Given the description of an element on the screen output the (x, y) to click on. 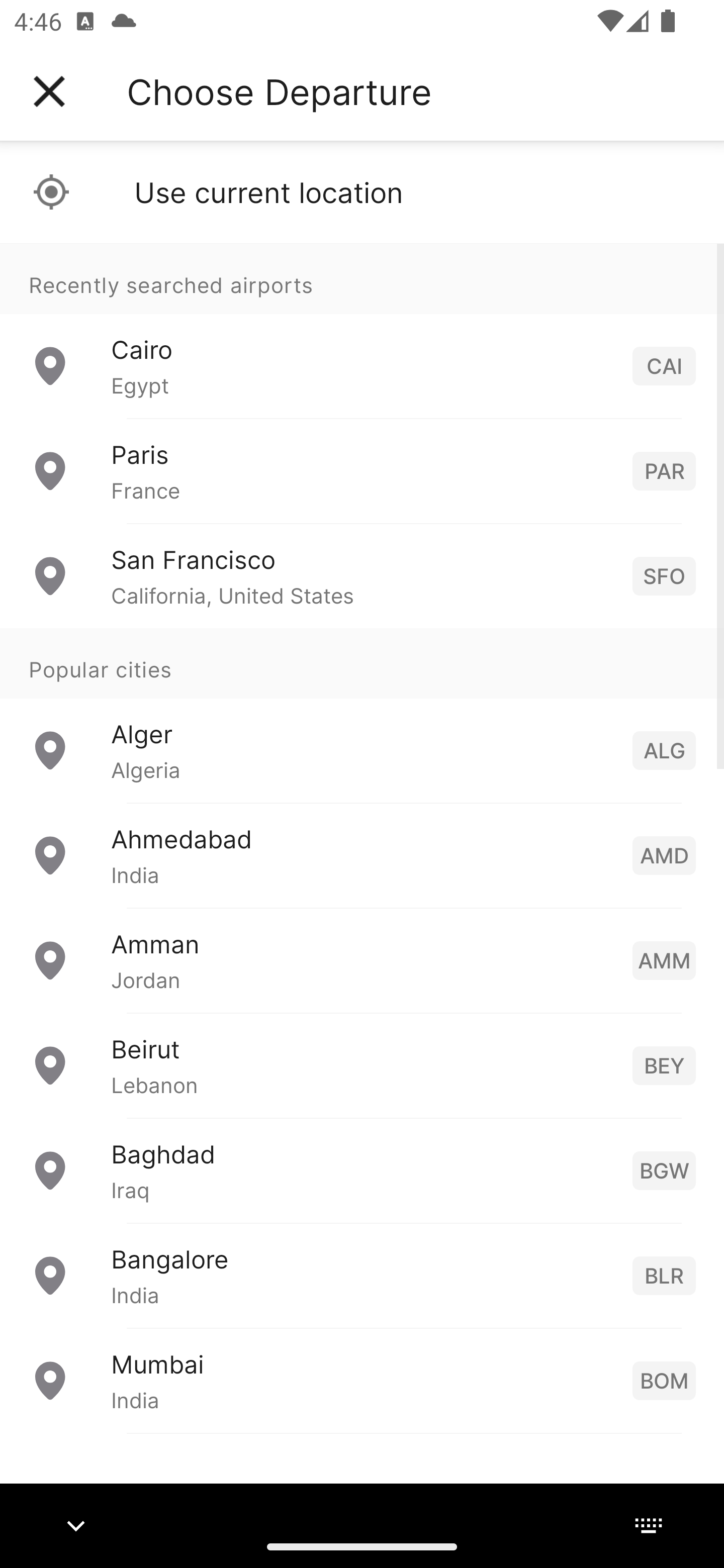
Choose Departure (279, 91)
Use current location (362, 192)
Recently searched airports Cairo Egypt CAI (362, 330)
Recently searched airports (362, 278)
Paris France PAR (362, 470)
San Francisco California, United States SFO (362, 575)
Popular cities Alger Algeria ALG (362, 715)
Popular cities (362, 663)
Ahmedabad India AMD (362, 854)
Amman Jordan AMM (362, 959)
Beirut Lebanon BEY (362, 1064)
Baghdad Iraq BGW (362, 1170)
Bangalore India BLR (362, 1275)
Mumbai India BOM (362, 1380)
